Given the description of an element on the screen output the (x, y) to click on. 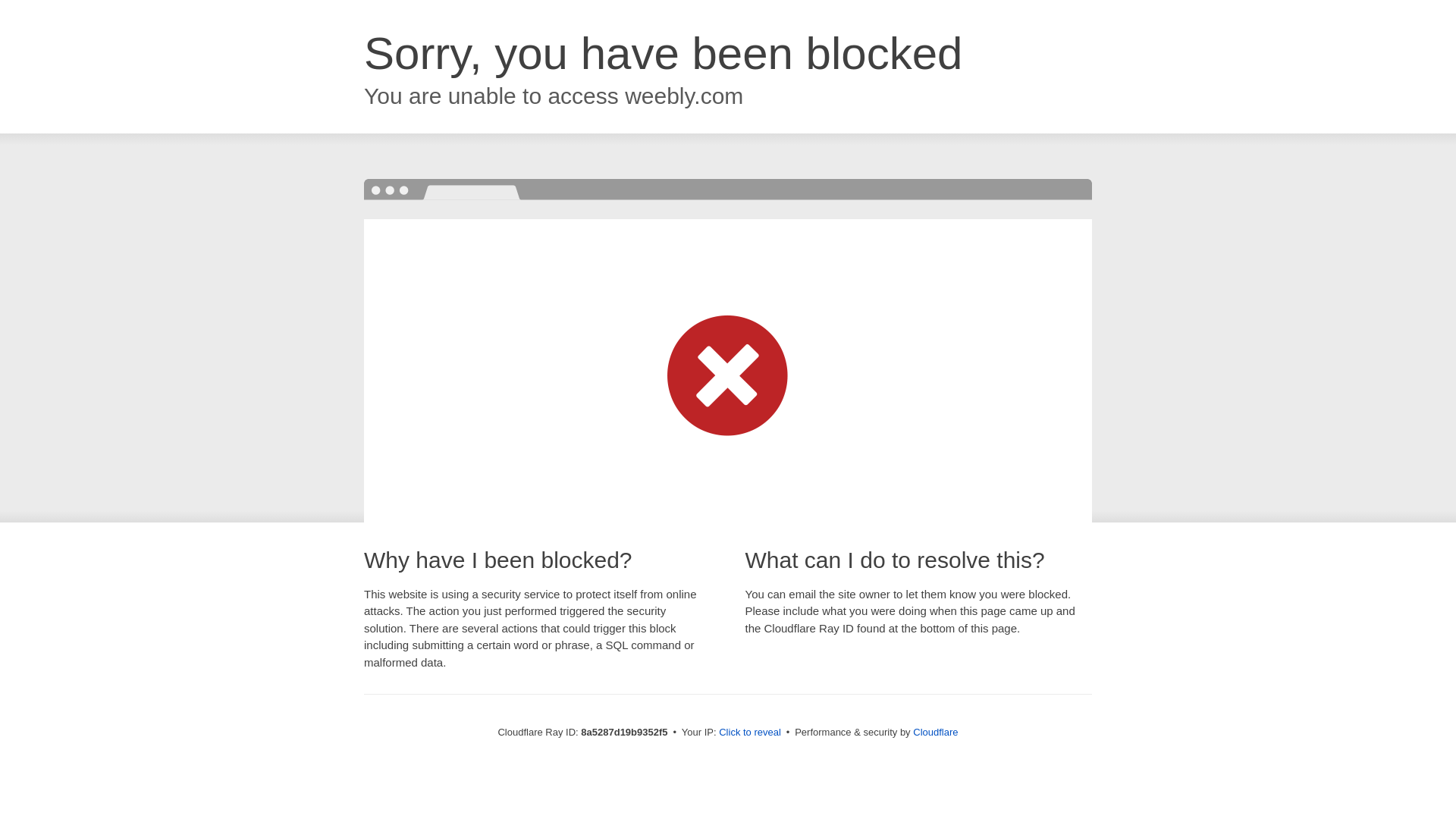
Click to reveal (749, 732)
Cloudflare (935, 731)
